Given the description of an element on the screen output the (x, y) to click on. 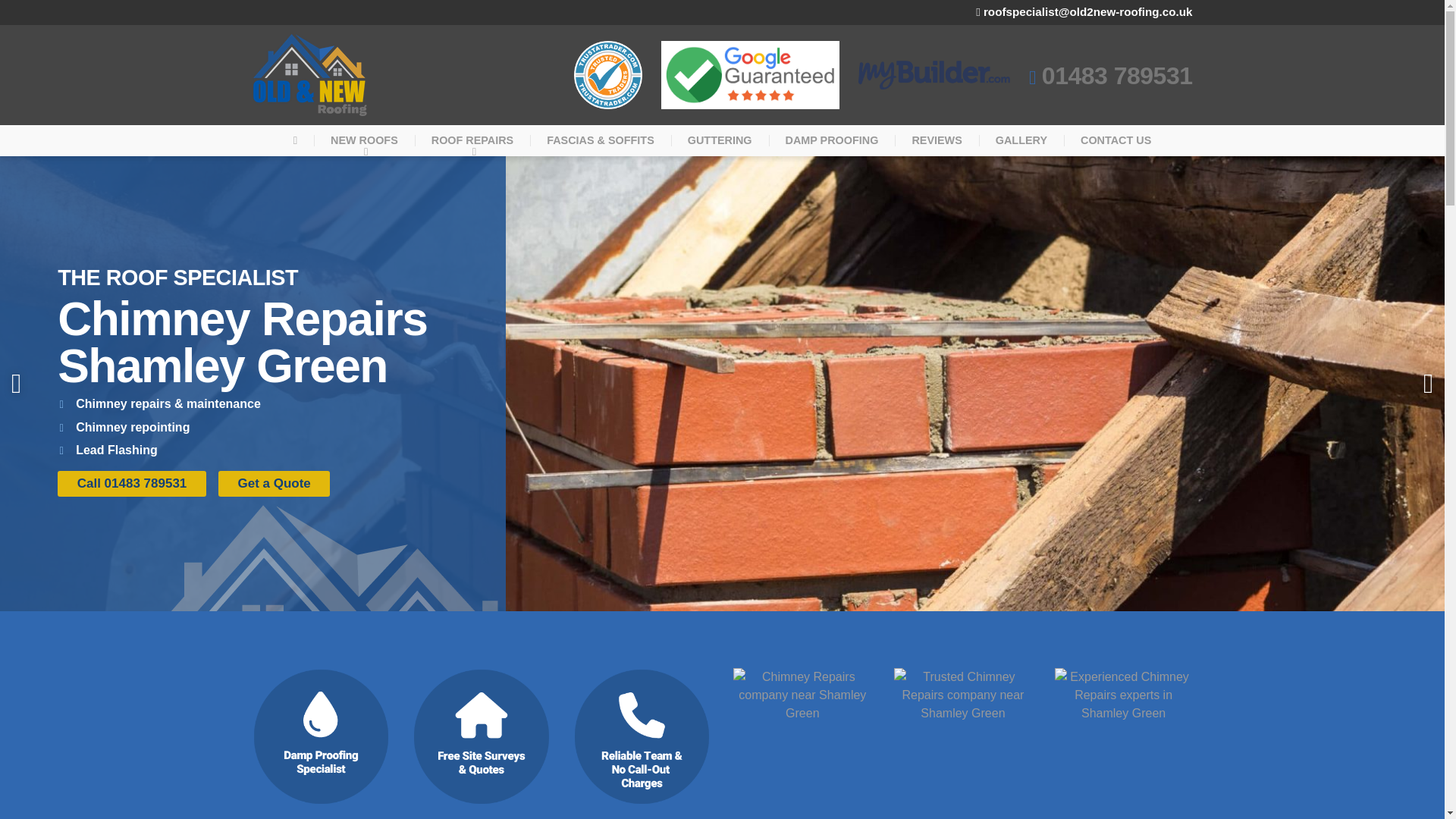
NEW ROOFS (364, 141)
Call 01483 789531 (132, 483)
CONTACT US (1115, 141)
GUTTERING (719, 141)
REVIEWS (936, 141)
Get a Quote (274, 483)
GALLERY (1020, 141)
DAMP PROOFING (831, 141)
ROOF REPAIRS (472, 141)
01483 789531 (1110, 75)
